Given the description of an element on the screen output the (x, y) to click on. 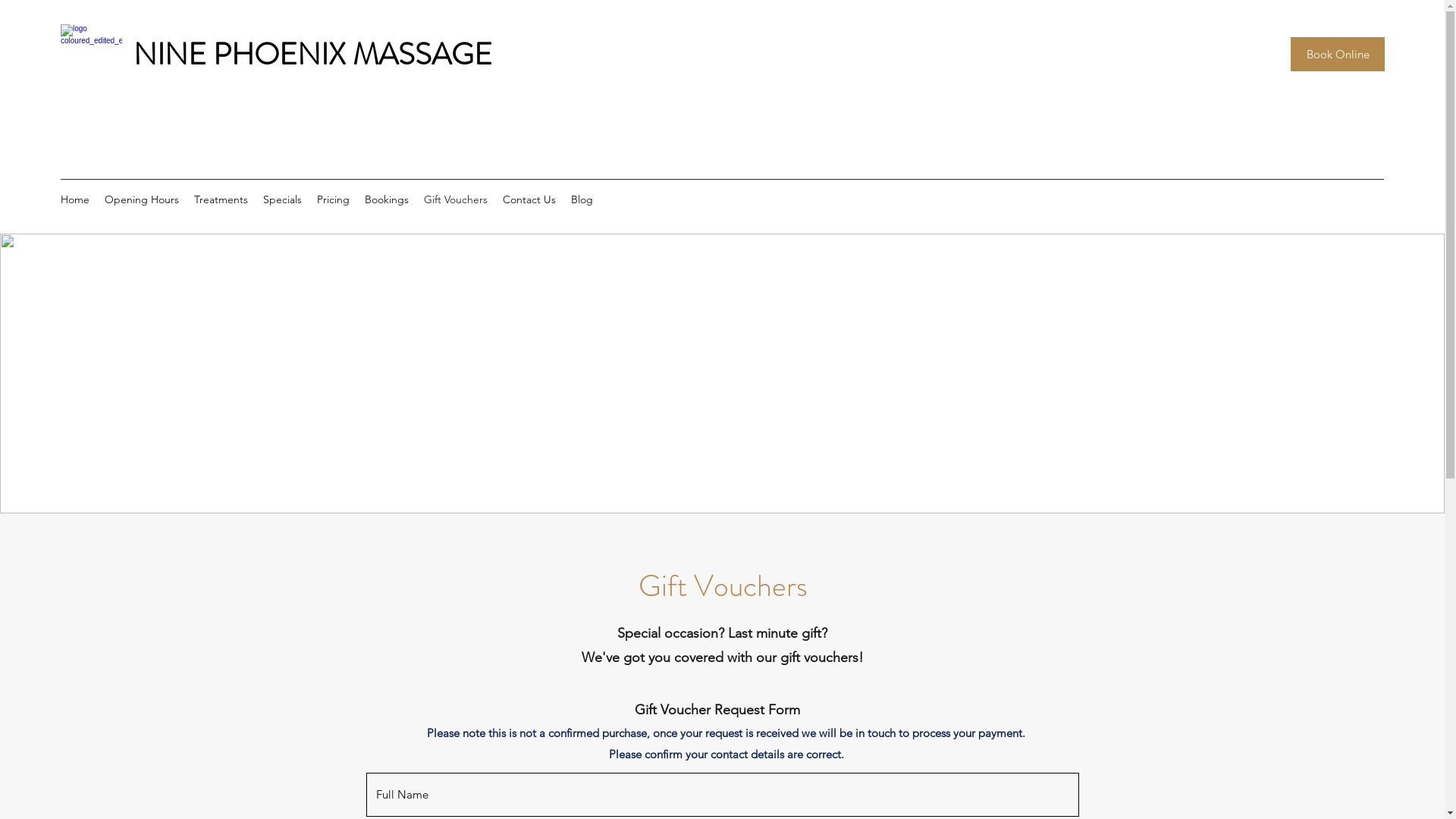
Book Online Element type: text (1337, 54)
Specials Element type: text (282, 199)
Treatments Element type: text (220, 199)
Opening Hours Element type: text (141, 199)
NINE PHOENIX MASSAGE Element type: text (312, 53)
Contact Us Element type: text (529, 199)
Bookings Element type: text (386, 199)
Blog Element type: text (581, 199)
Pricing Element type: text (333, 199)
Gift Vouchers Element type: text (455, 199)
Home Element type: text (75, 199)
